Given the description of an element on the screen output the (x, y) to click on. 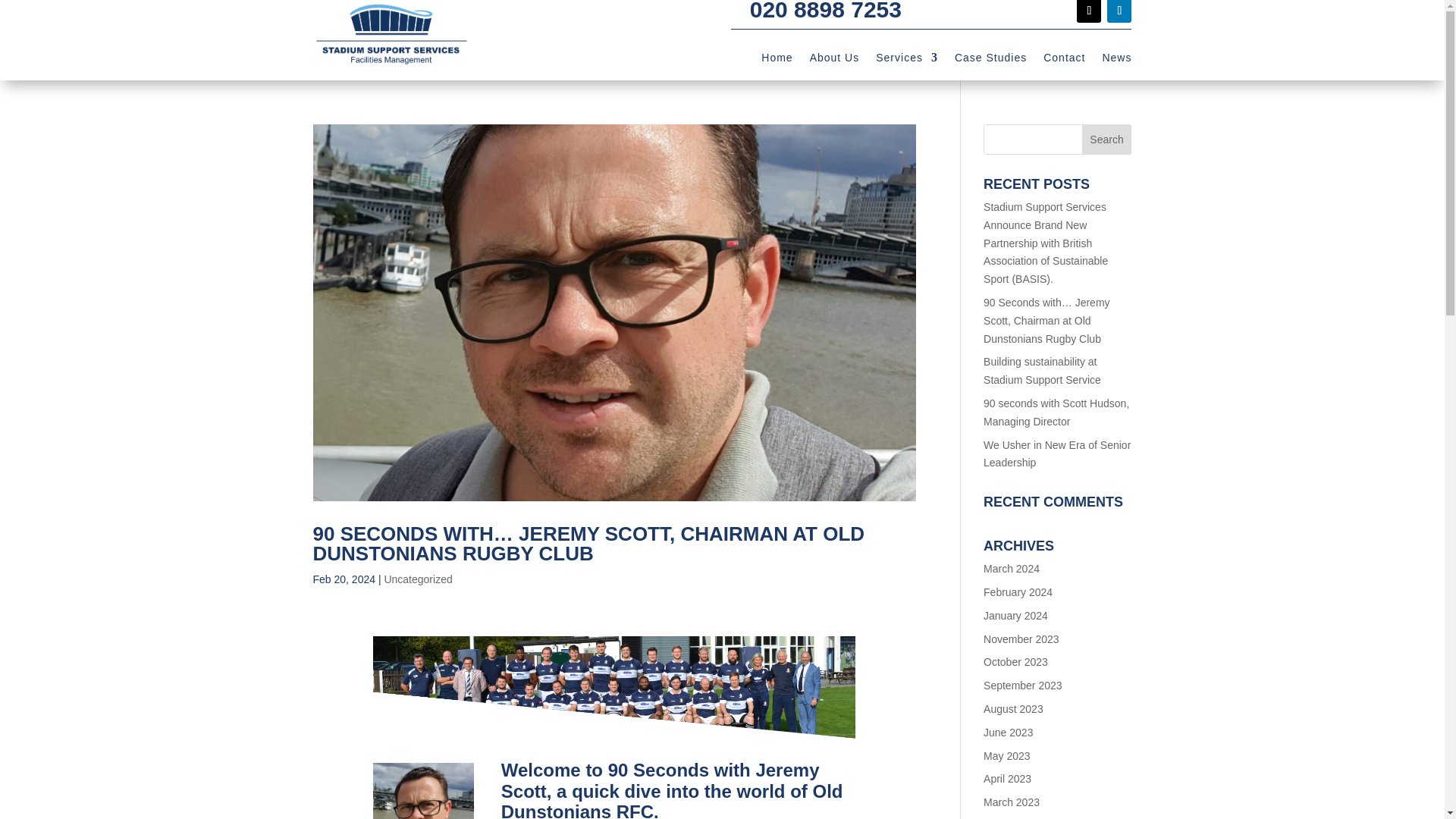
Template 10 (614, 696)
Home (776, 60)
90 seconds with Scott Hudson, Managing Director (1056, 412)
September 2023 (1023, 685)
Jeremy Scott (423, 790)
November 2023 (1021, 639)
March 2024 (1011, 568)
Search (1106, 139)
February 2024 (1018, 592)
August 2023 (1013, 708)
About Us (834, 60)
Follow on X (1088, 11)
Case Studies (990, 60)
October 2023 (1016, 662)
June 2023 (1008, 732)
